Given the description of an element on the screen output the (x, y) to click on. 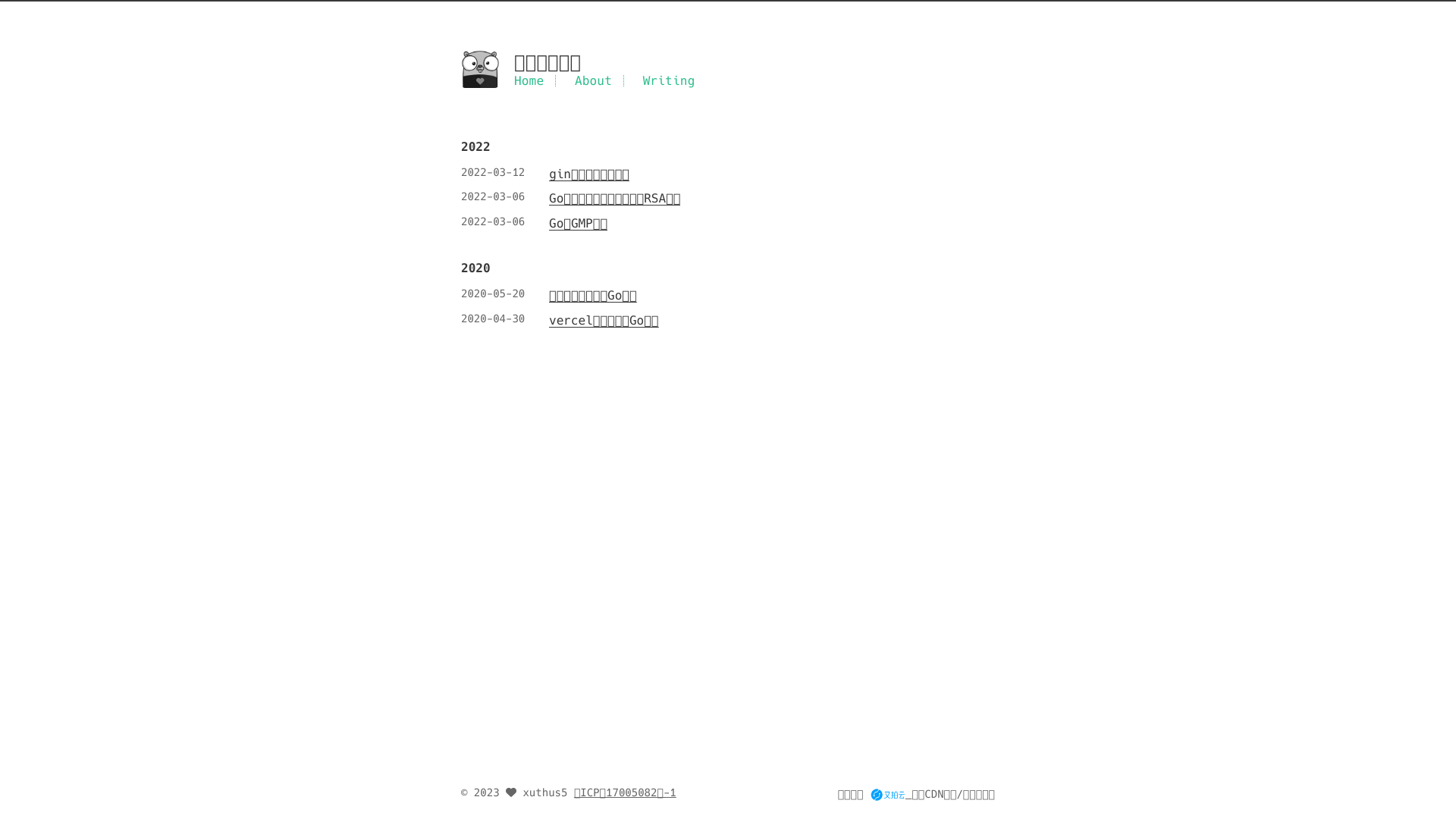
About Element type: text (592, 80)
Home Element type: text (528, 80)
Writing Element type: text (669, 80)
